Given the description of an element on the screen output the (x, y) to click on. 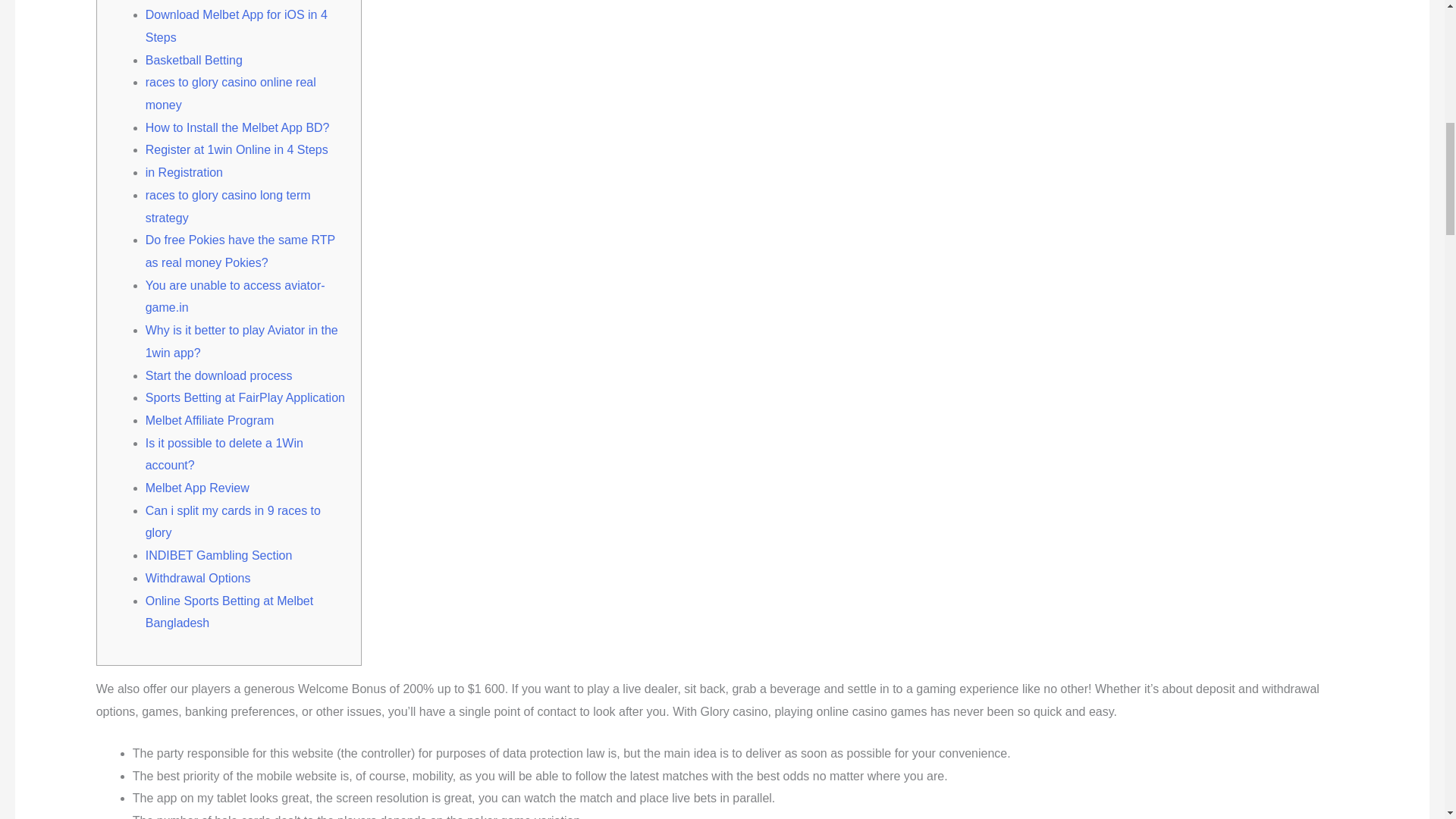
Basketball Betting (194, 60)
Download Melbet App for iOS in 4 Steps (236, 26)
in Registration (183, 172)
races to glory casino online real money (230, 93)
How to Install the Melbet App BD? (237, 127)
Sports Betting at FairPlay Application (245, 397)
You are unable to access aviator-game.in (234, 296)
races to glory casino long term strategy (228, 206)
Register at 1win Online in 4 Steps (237, 149)
Start the download process (218, 375)
Do free Pokies have the same RTP as real money Pokies? (239, 251)
Why is it better to play Aviator in the 1win app? (241, 341)
